Given the description of an element on the screen output the (x, y) to click on. 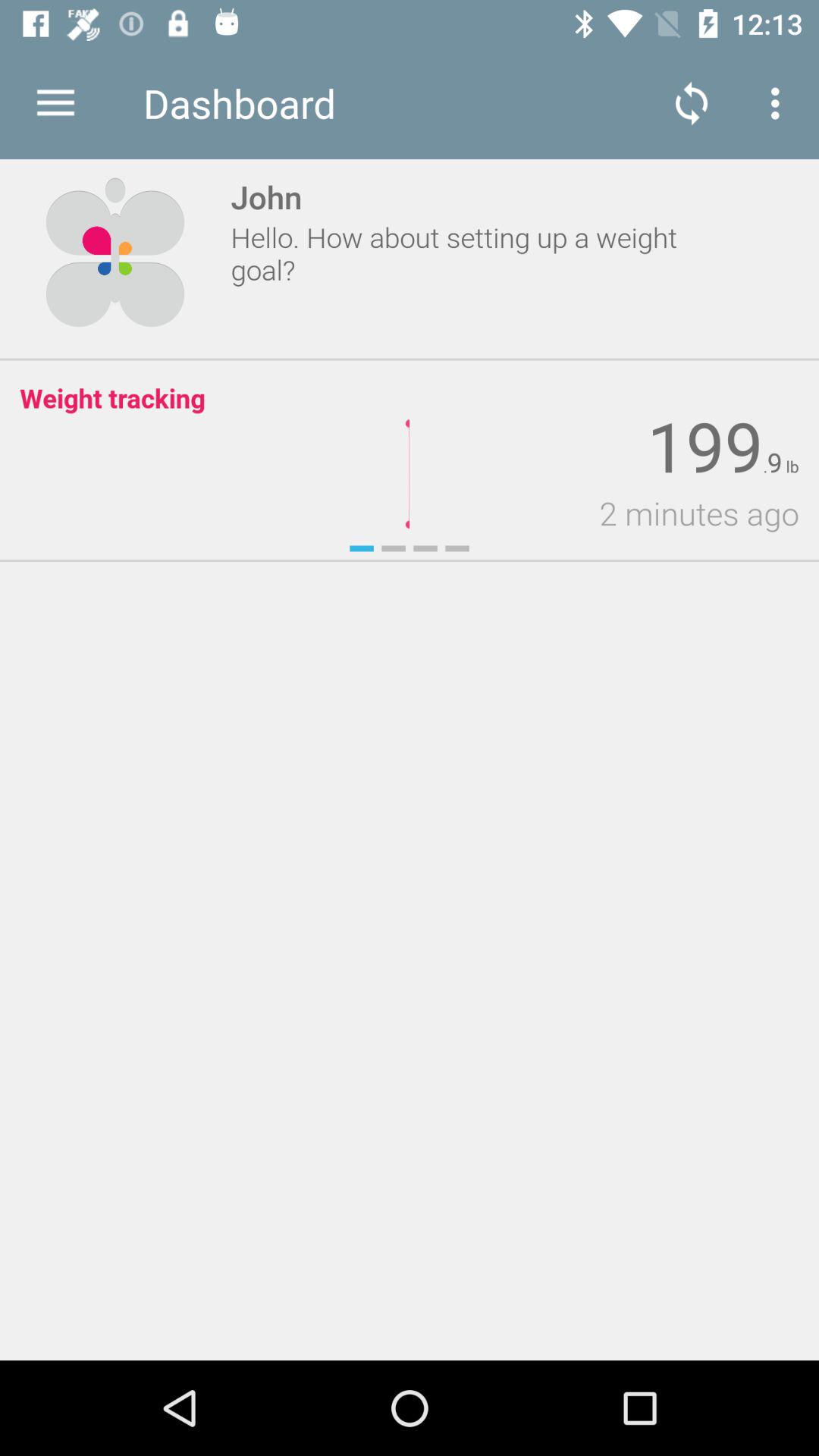
press item to the left of the dashboard item (55, 103)
